Given the description of an element on the screen output the (x, y) to click on. 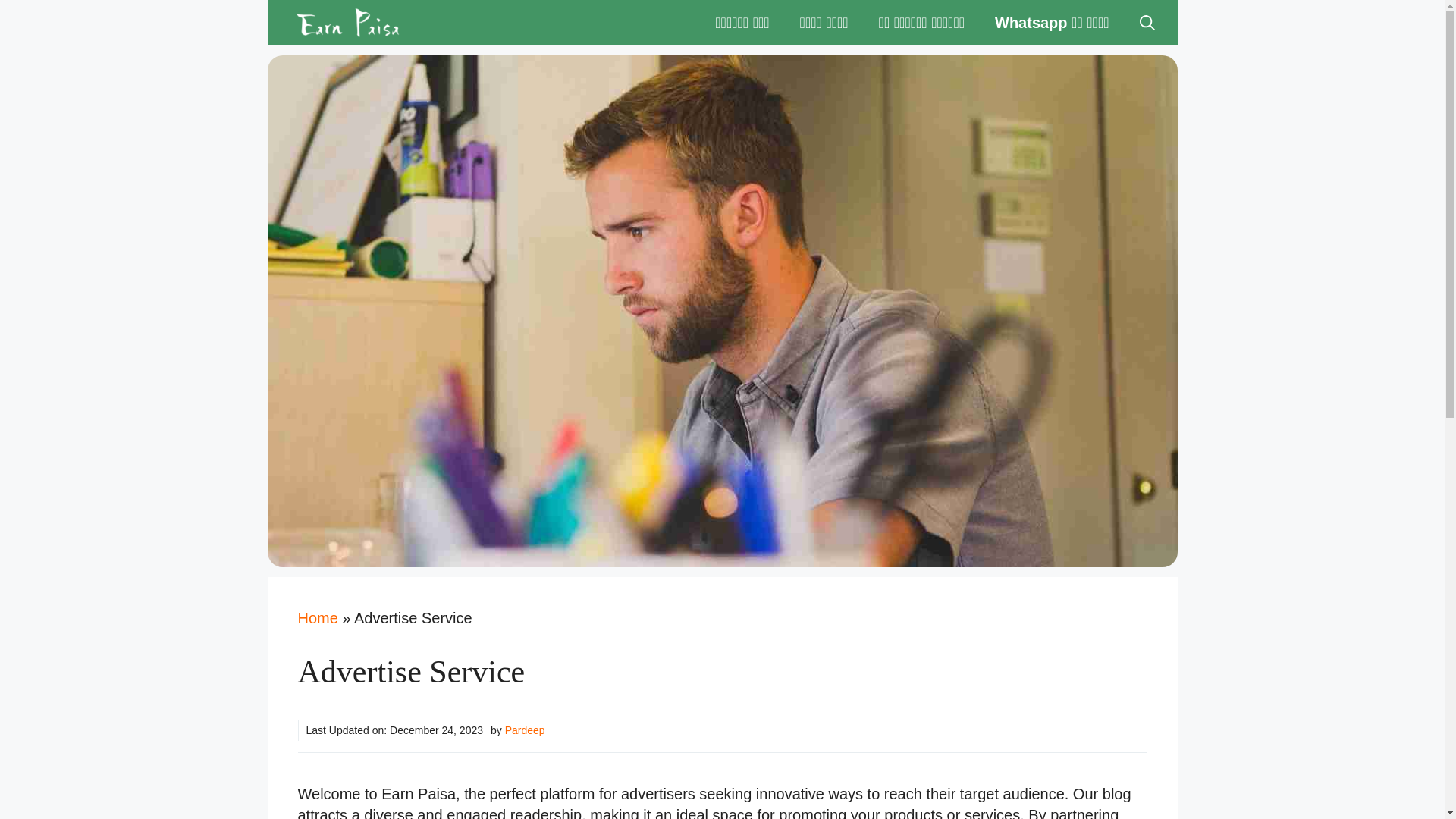
Pardeep (524, 729)
Home (317, 617)
